Given the description of an element on the screen output the (x, y) to click on. 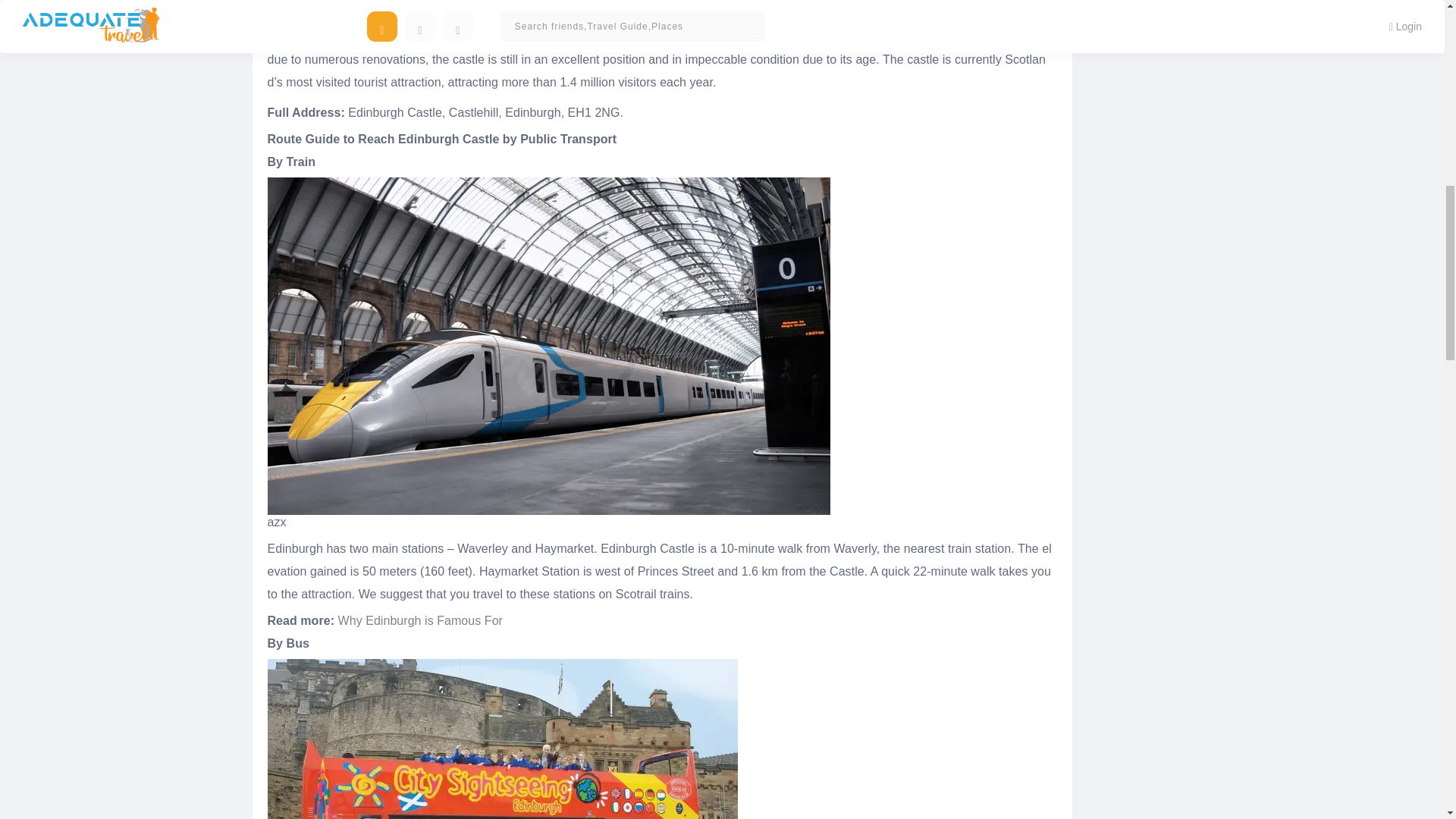
Why Edinburgh is Famous For (419, 620)
